Given the description of an element on the screen output the (x, y) to click on. 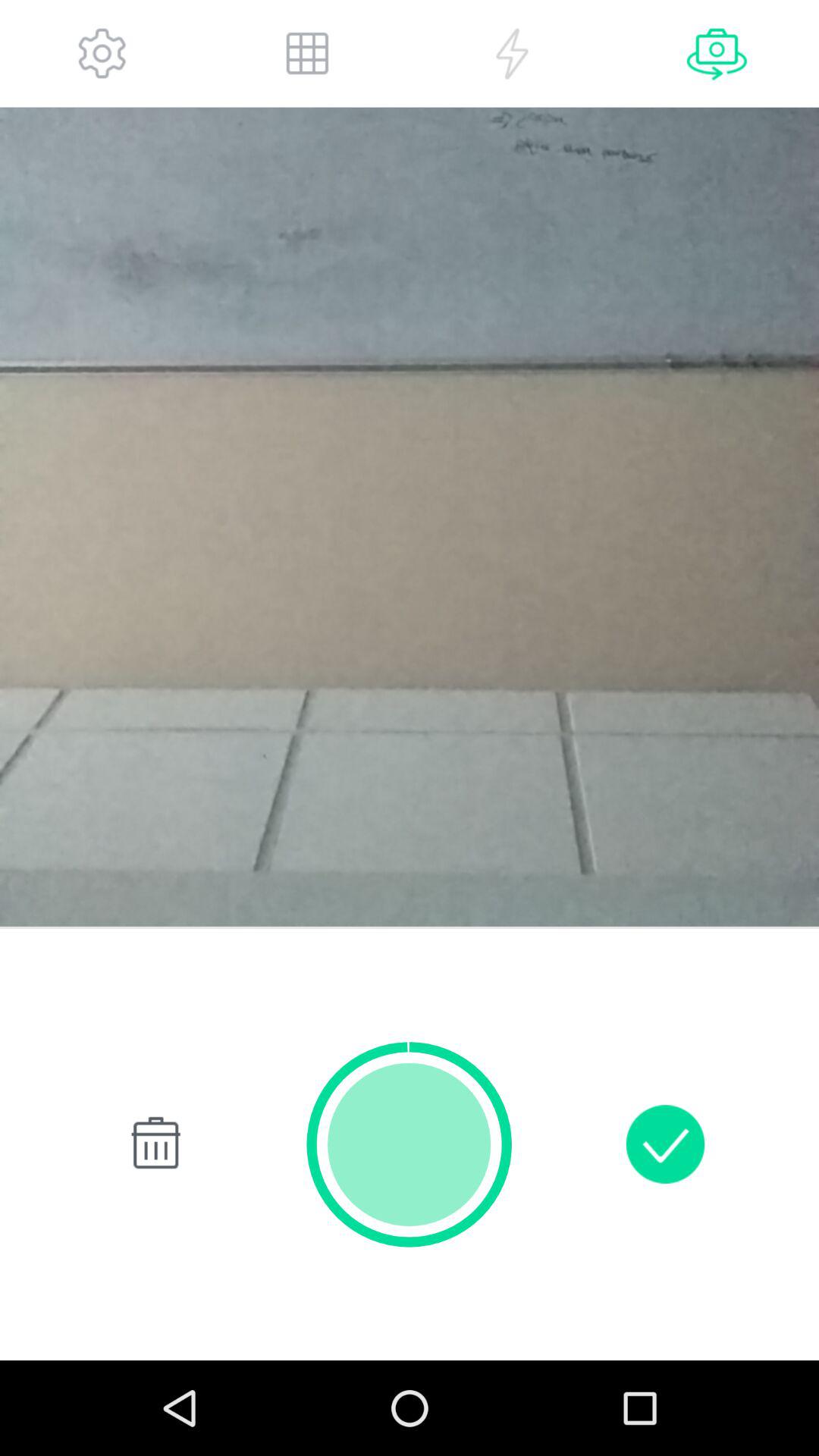
go to write (665, 1144)
